Given the description of an element on the screen output the (x, y) to click on. 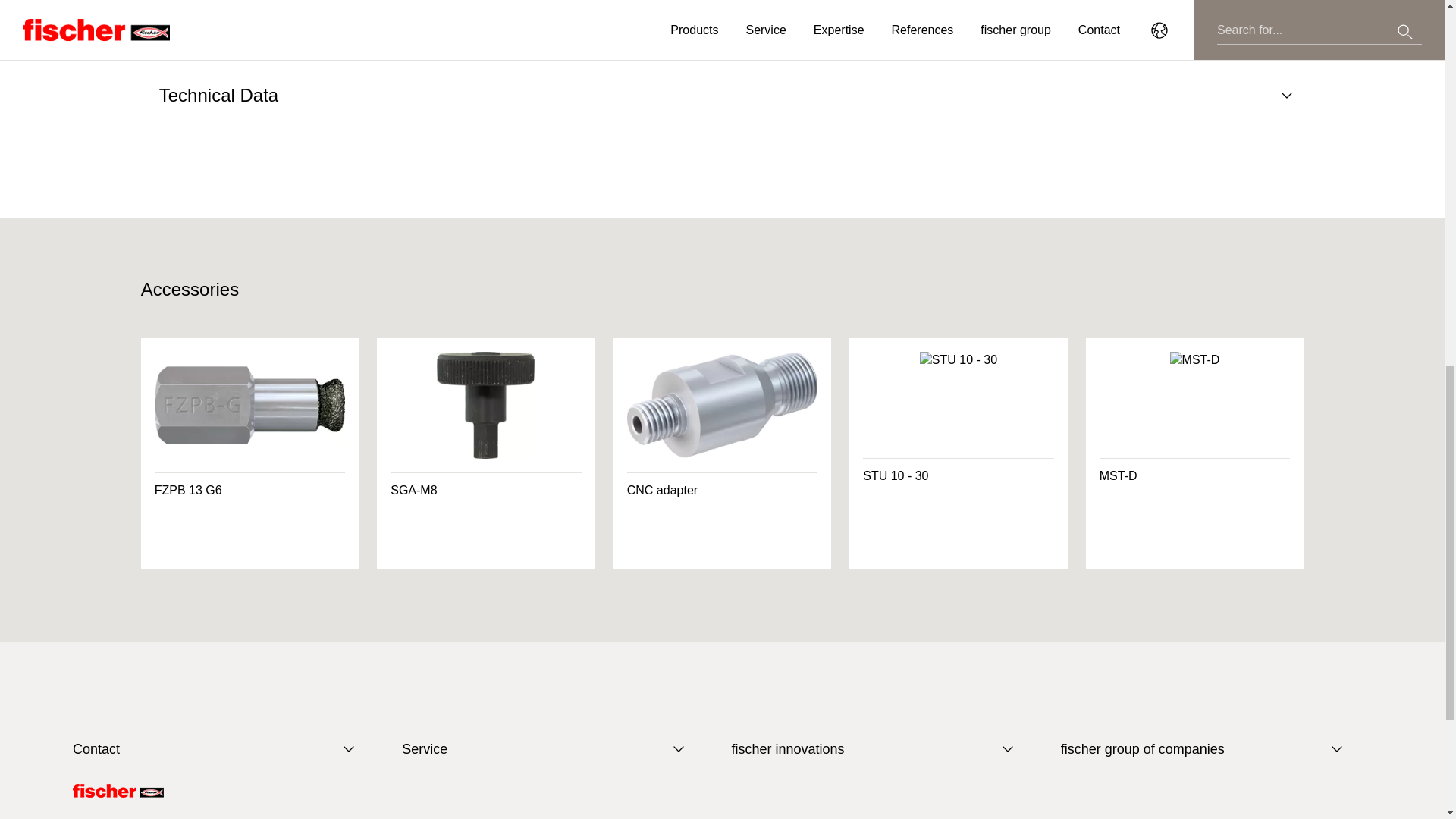
SGA-M8 (486, 453)
STU 10 - 30 (957, 453)
MST-D (1195, 453)
FZPB 13 G6 (250, 453)
CNC adapter (721, 453)
